Given the description of an element on the screen output the (x, y) to click on. 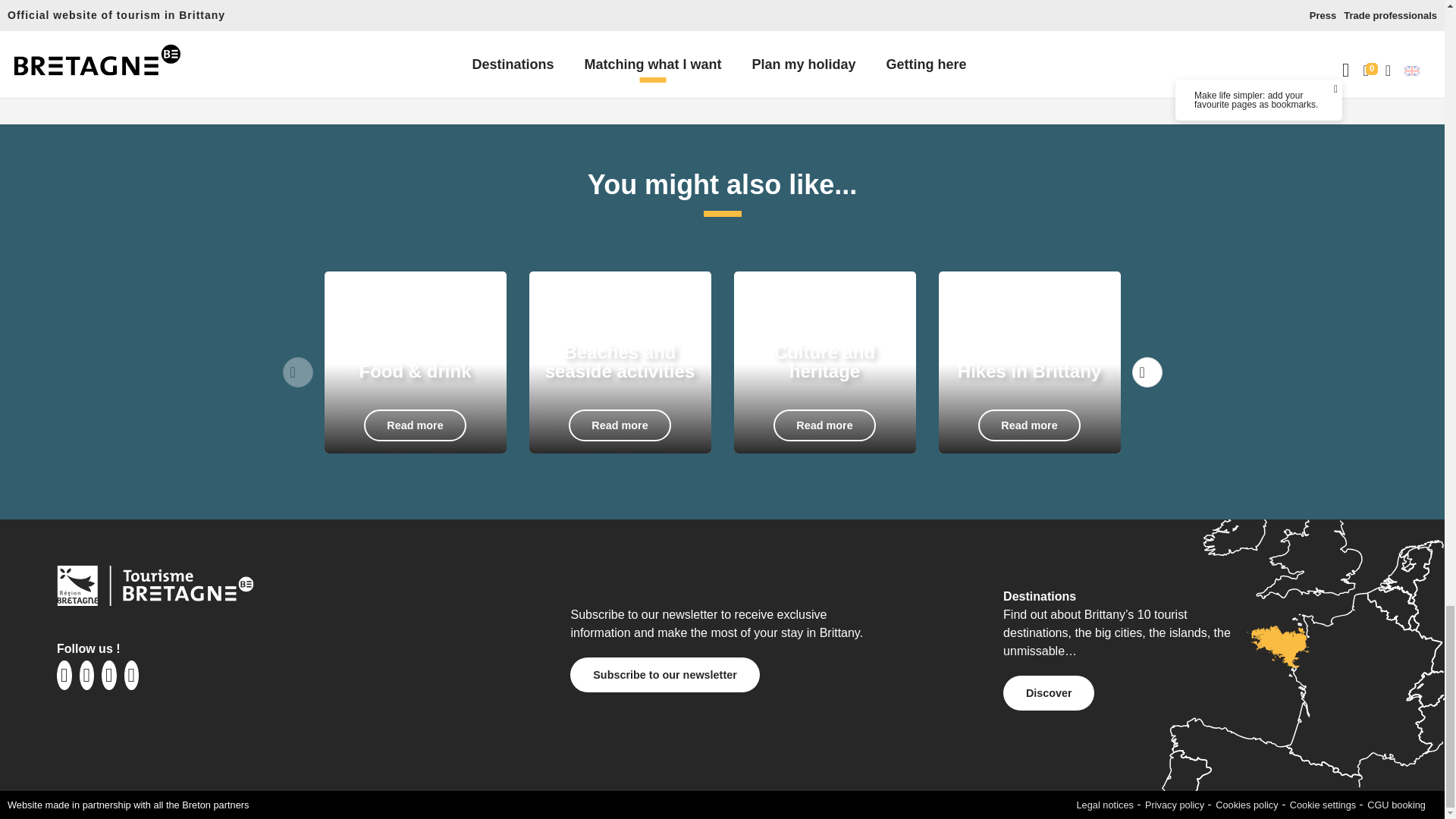
Cookies policy (824, 362)
Cookie settings (1246, 804)
Subscribe to our newsletter (1323, 804)
CGU booking (664, 674)
Legal notices (1030, 362)
Discover (1396, 804)
Privacy policy (1105, 804)
